Given the description of an element on the screen output the (x, y) to click on. 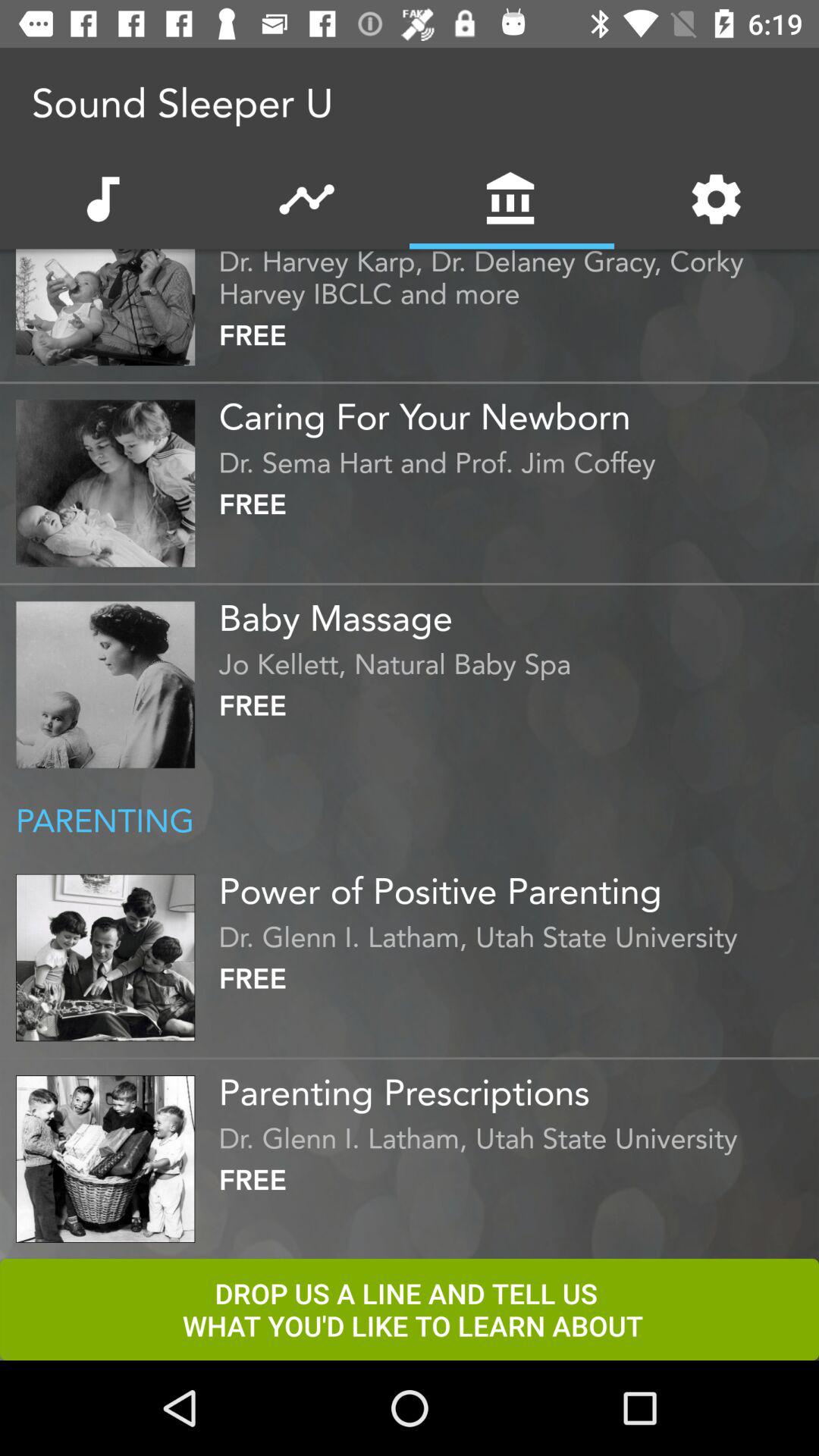
scroll to jo kellett natural item (515, 659)
